Given the description of an element on the screen output the (x, y) to click on. 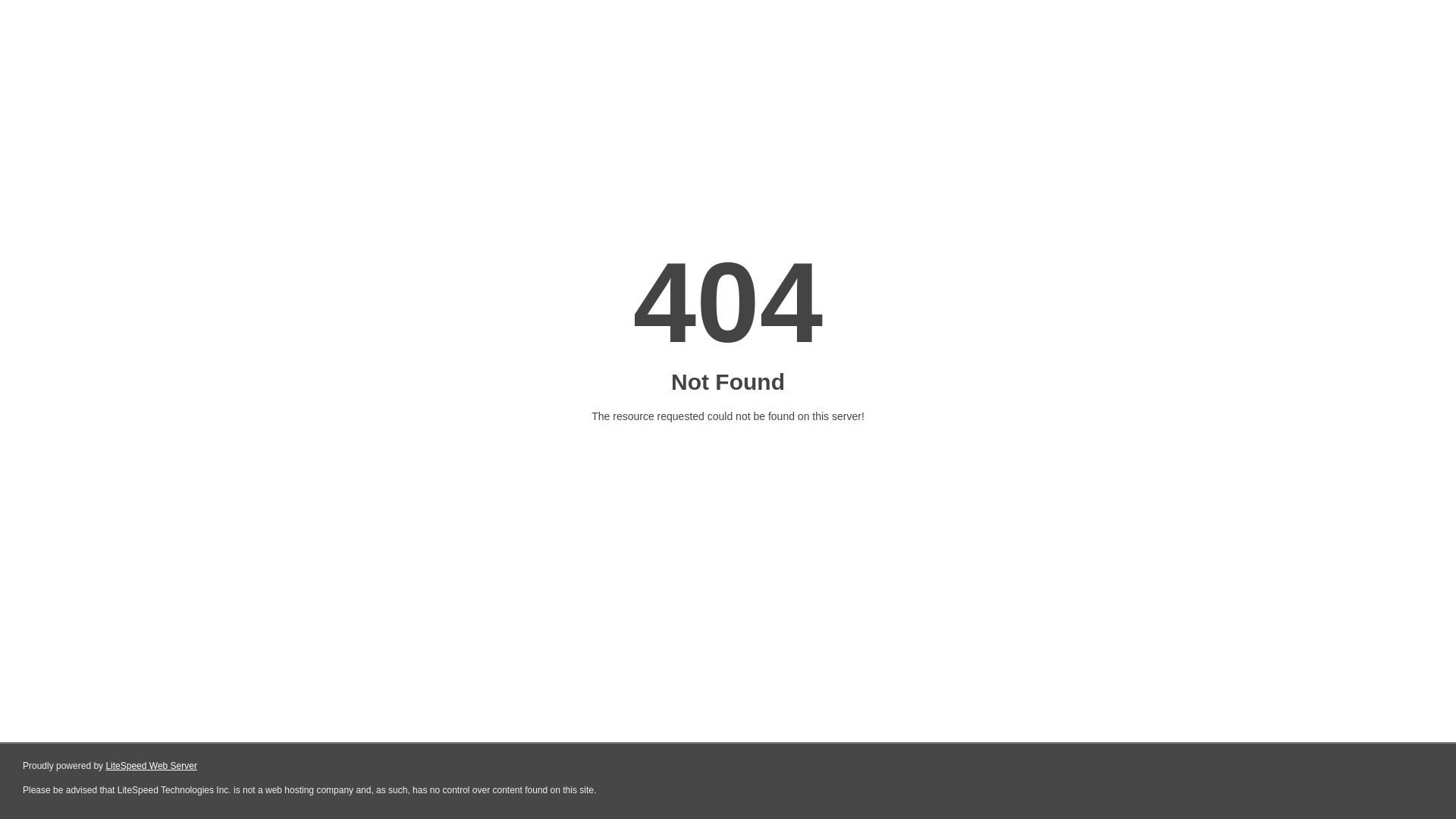
LiteSpeed Web Server Element type: text (151, 765)
